Given the description of an element on the screen output the (x, y) to click on. 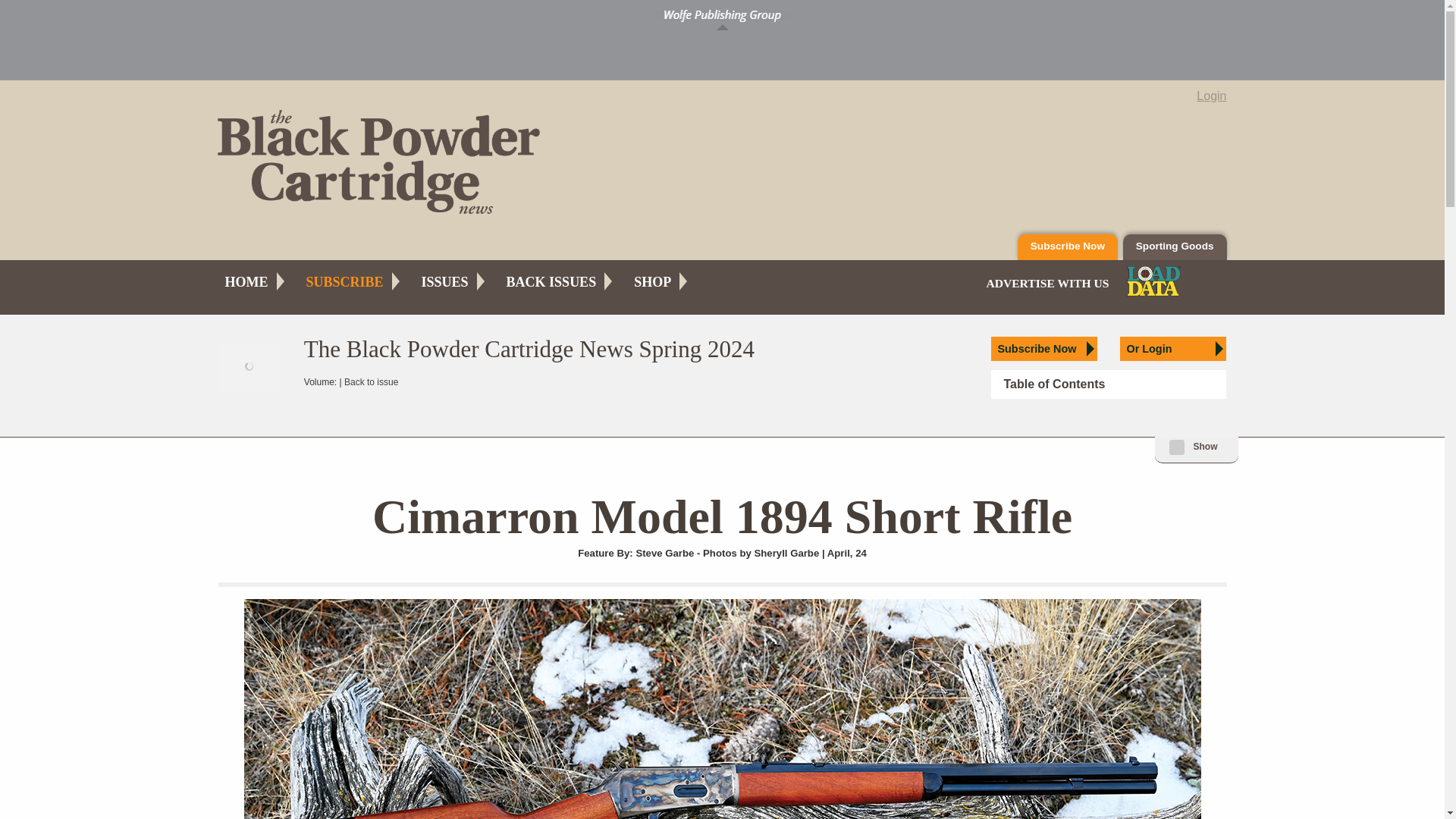
HOME (246, 282)
Subscribe Now (1067, 247)
BACK ISSUES (551, 282)
Sporting Goods (1174, 247)
Back to issue (370, 381)
Login (1210, 96)
Table of Contents (1108, 384)
Login (1210, 96)
SUBSCRIBE (344, 282)
SHOP (652, 282)
Or Login (1172, 348)
ADVERTISE WITH US (1046, 282)
ISSUES (445, 282)
Subscribe Now (1044, 348)
Login (1172, 348)
